Given the description of an element on the screen output the (x, y) to click on. 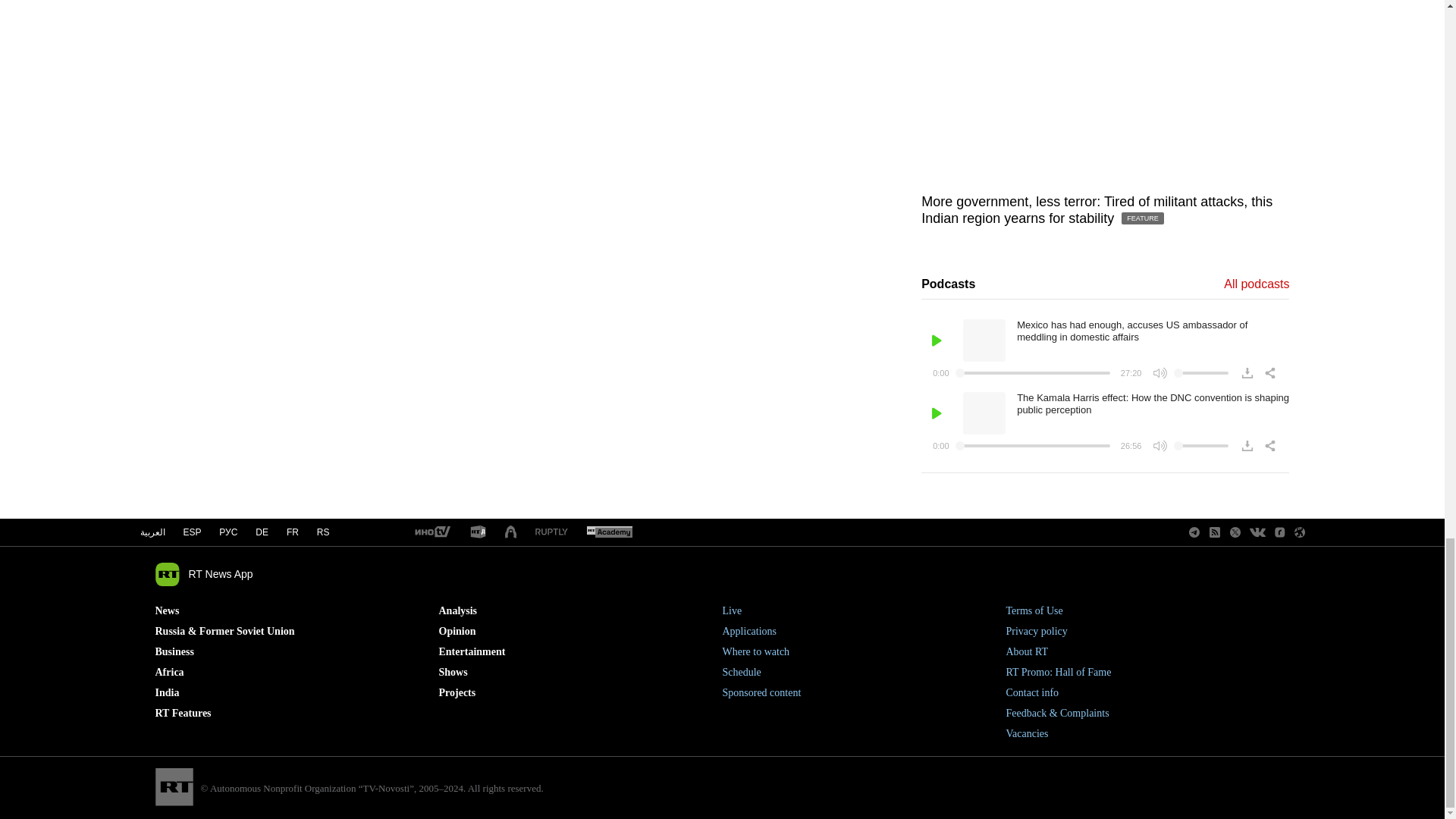
RT  (551, 532)
RT  (608, 532)
RT  (478, 532)
RT  (431, 532)
